Given the description of an element on the screen output the (x, y) to click on. 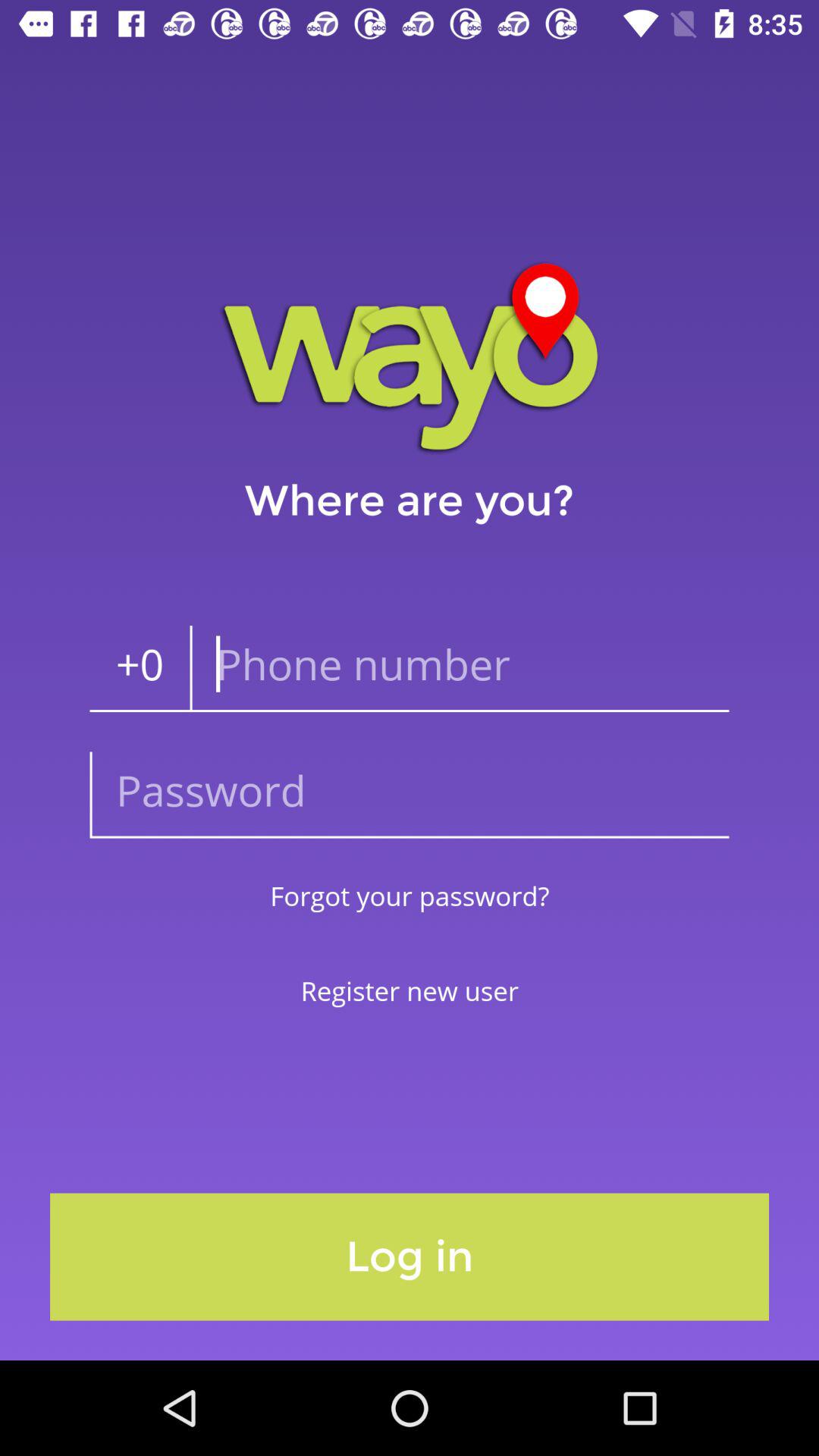
launch item below +0 item (409, 794)
